Given the description of an element on the screen output the (x, y) to click on. 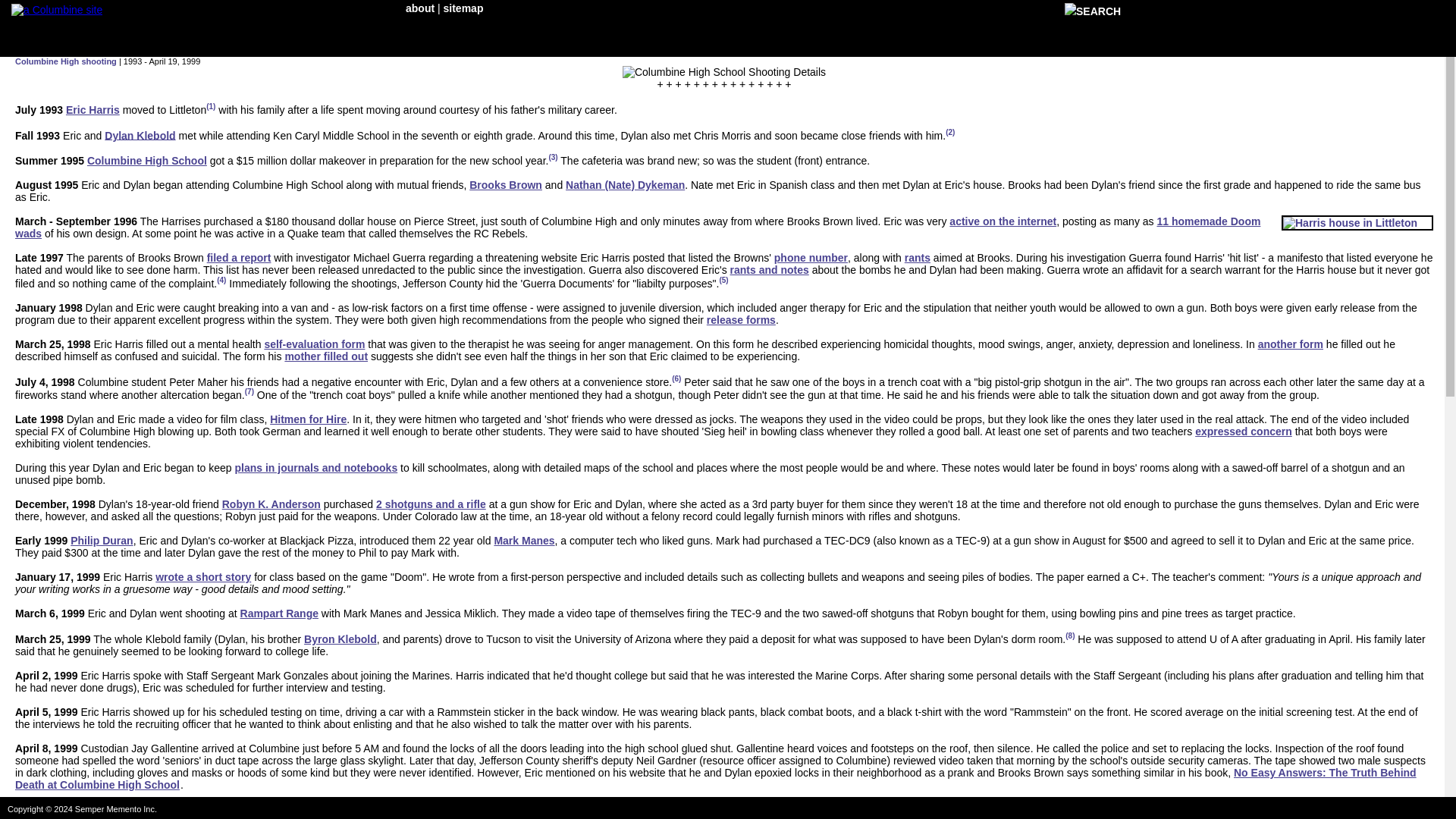
another form (1290, 344)
active on the internet (1003, 221)
wrote a short story (202, 576)
Philip Duran (100, 540)
self-evaluation form (314, 344)
Rampart Range (279, 613)
Columbine High shooting (65, 61)
rants and notes (769, 269)
Byron Klebold (340, 639)
